Given the description of an element on the screen output the (x, y) to click on. 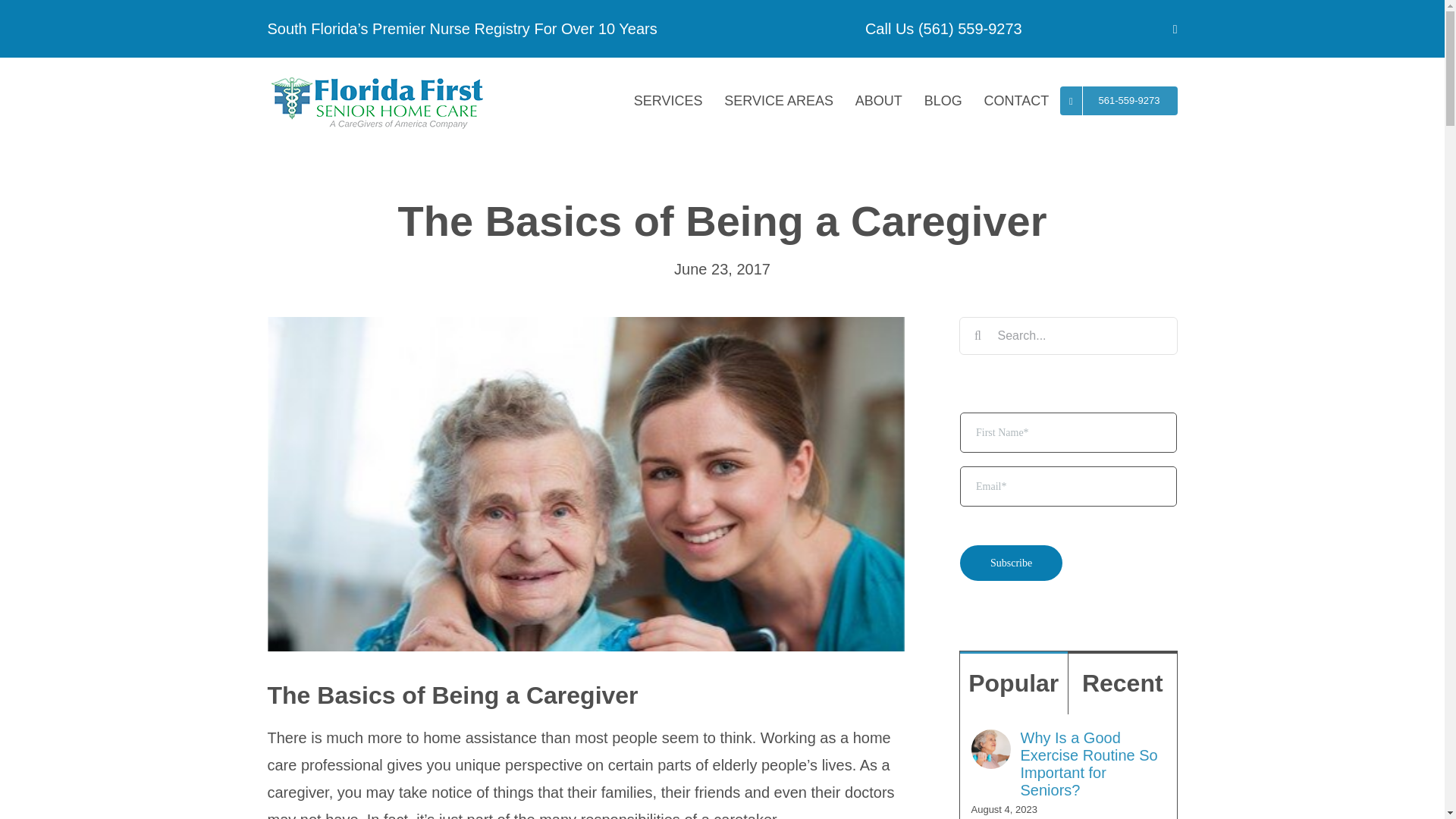
BLOG (942, 100)
561-559-9273 (1118, 100)
CONTACT (1015, 100)
Subscribe to Newsletter (1067, 502)
SERVICE AREAS (778, 100)
SERVICES (668, 100)
ABOUT (878, 100)
